Given the description of an element on the screen output the (x, y) to click on. 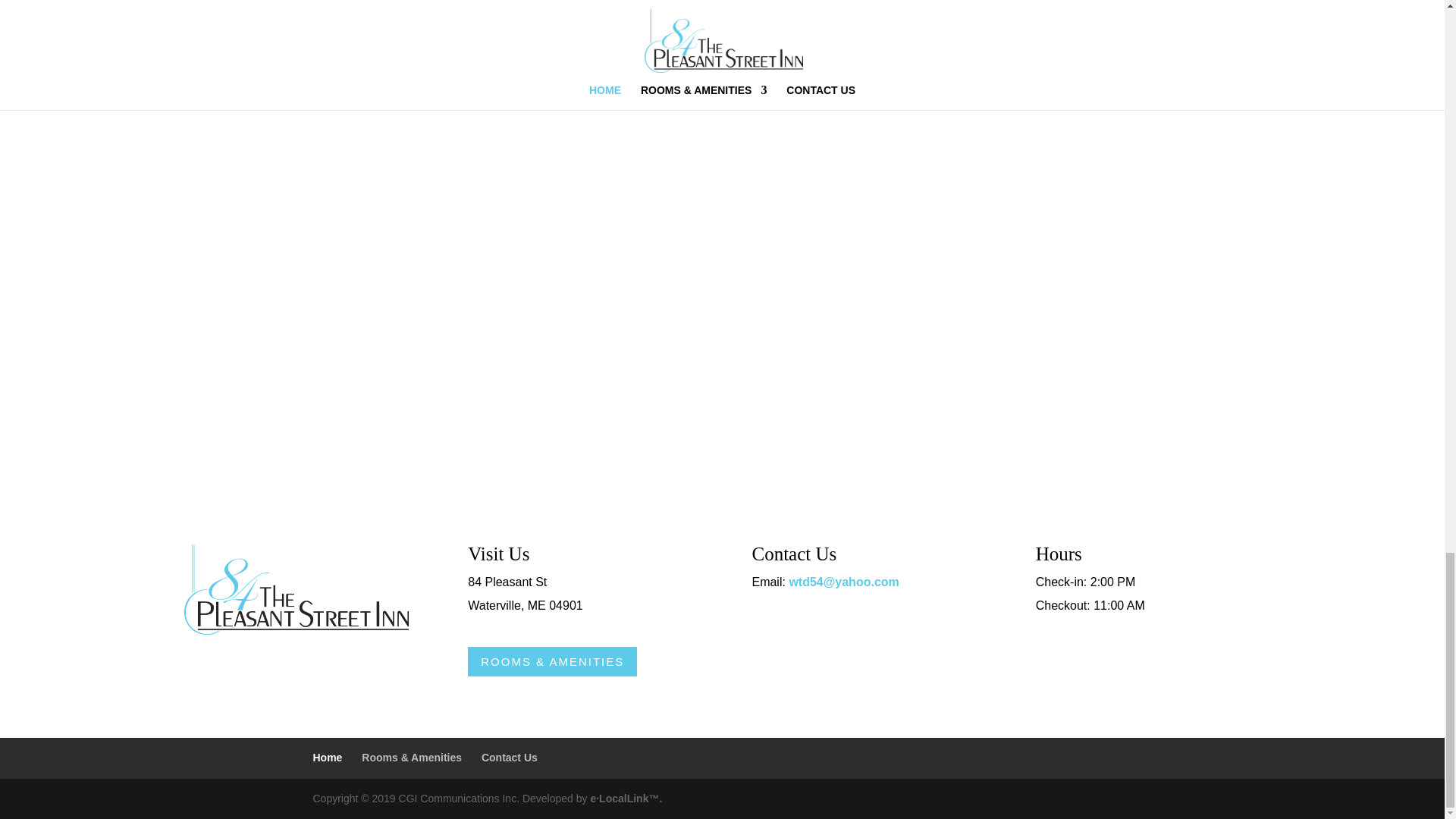
Contact Us (509, 757)
Home (327, 757)
